Given the description of an element on the screen output the (x, y) to click on. 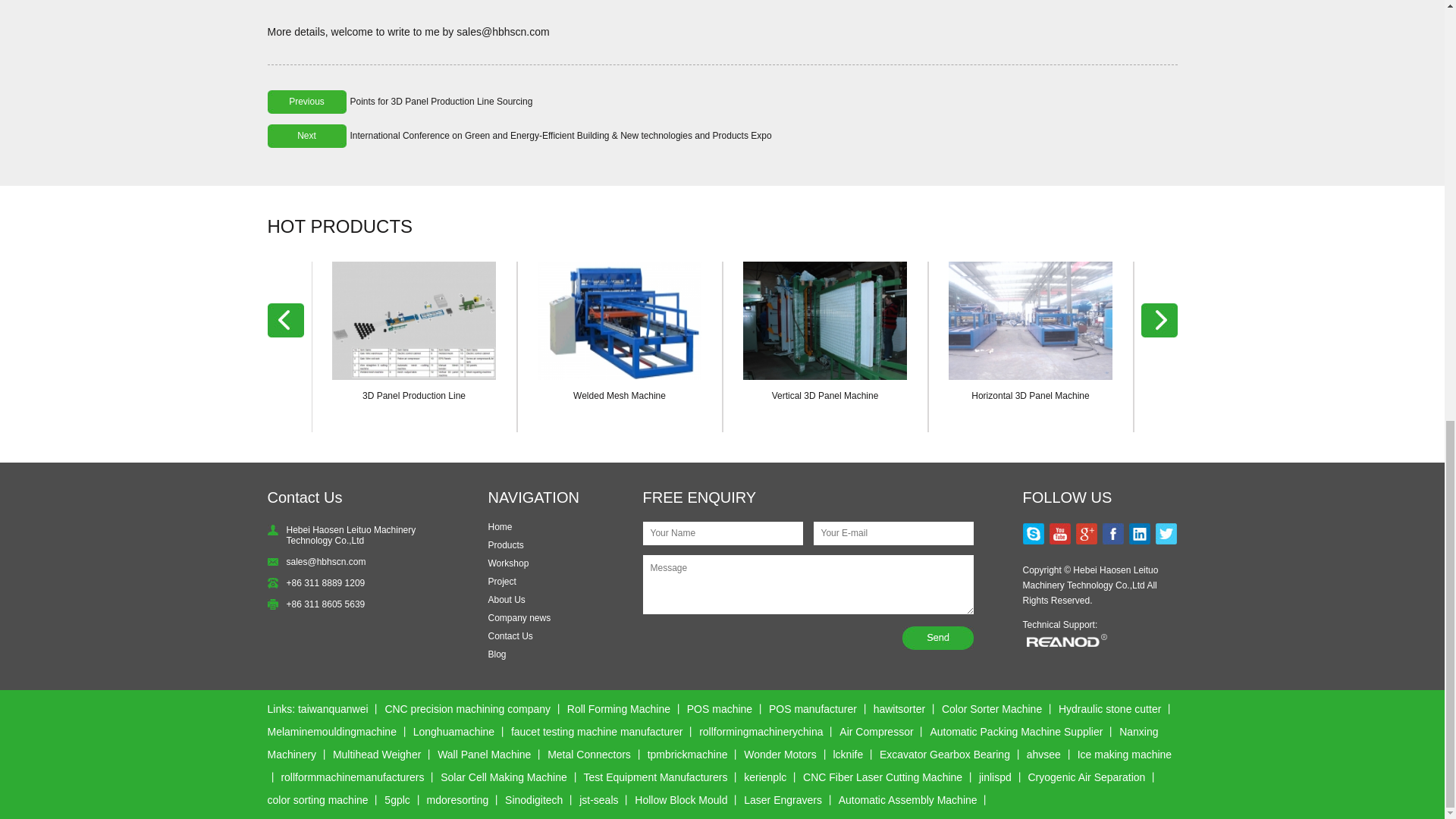
3D Panel Production Line (414, 395)
Welded Mesh Machine (618, 395)
3D Panel Production Line (414, 320)
Points for 3D Panel Production Line Sourcing (441, 101)
Welded Mesh Machine (618, 320)
